Given the description of an element on the screen output the (x, y) to click on. 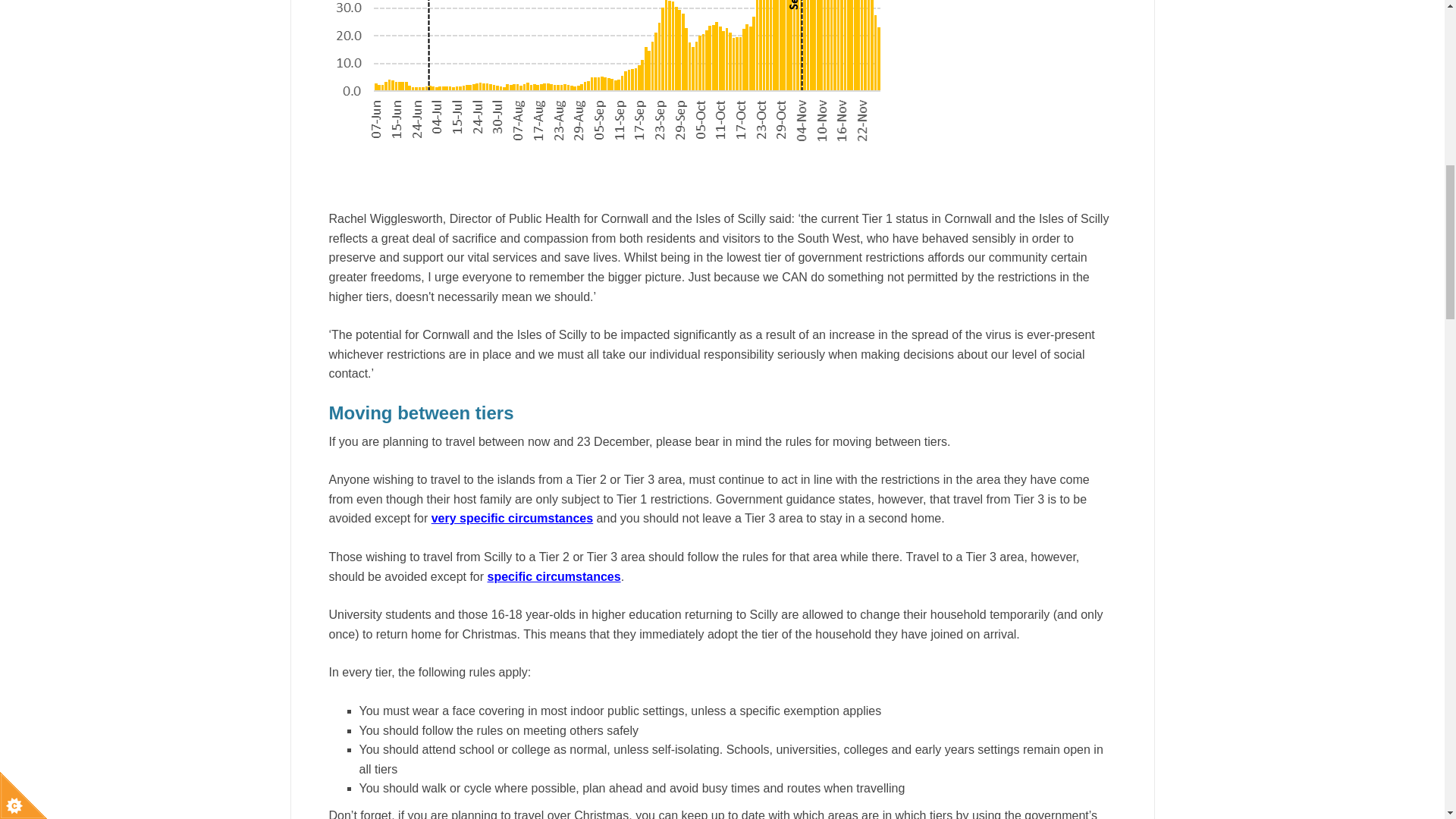
very specific circumstances (511, 517)
specific circumstances (554, 576)
